Given the description of an element on the screen output the (x, y) to click on. 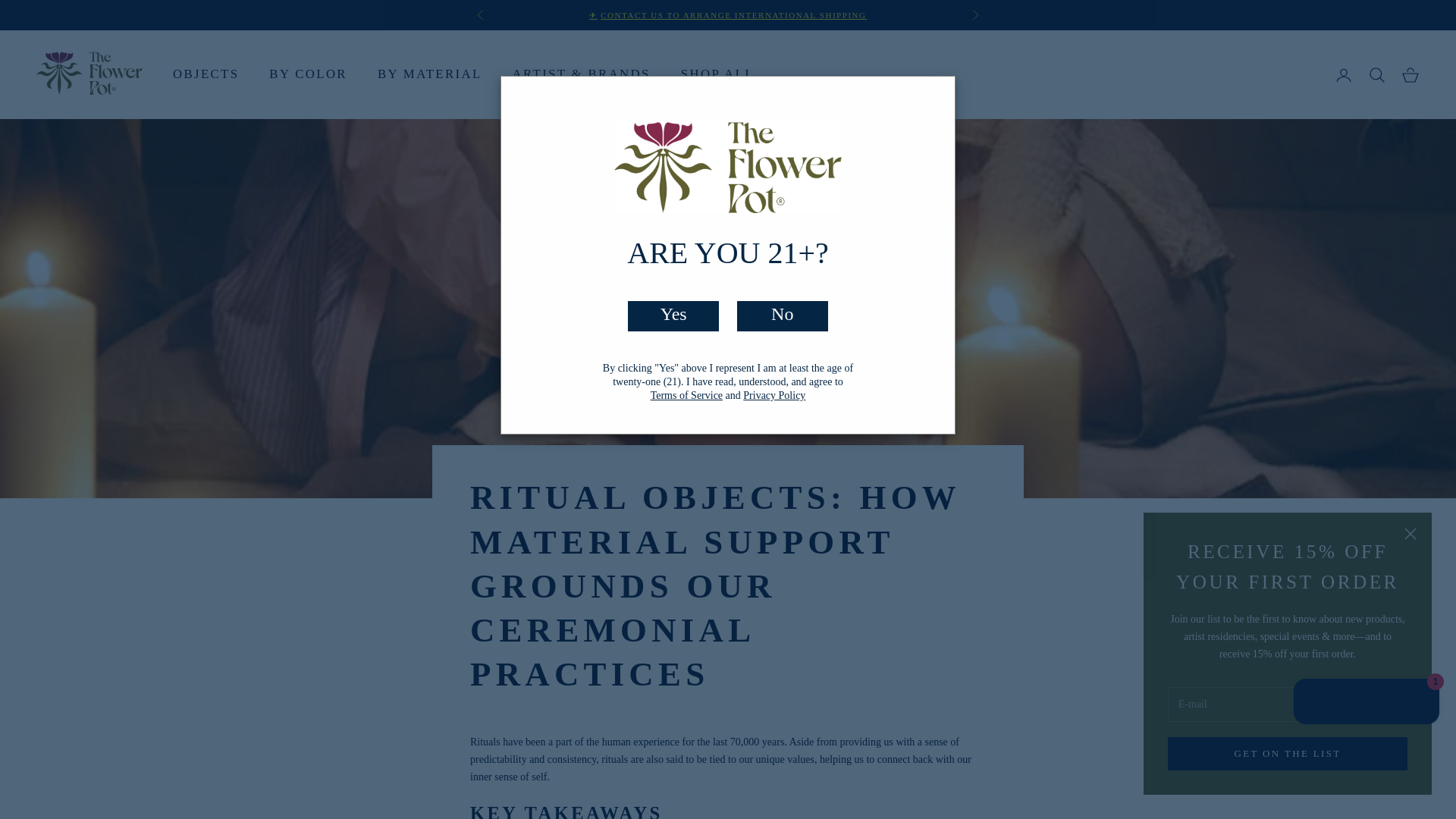
CONTACT US TO ARRANGE INTERNATIONAL SHIPPING (732, 14)
Shopify online store chat (1366, 703)
